Given the description of an element on the screen output the (x, y) to click on. 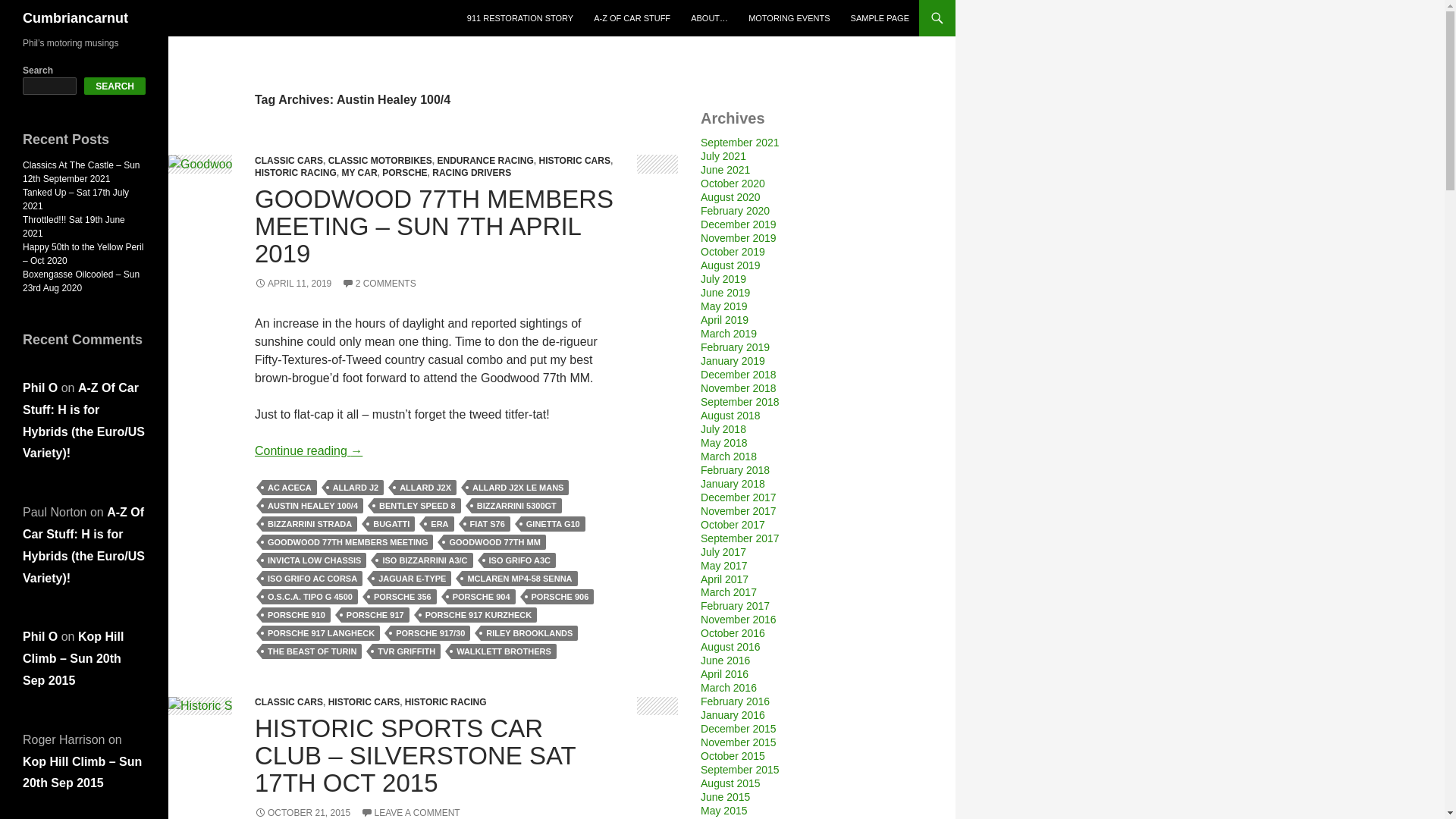
ALLARD J2X LE MANS (518, 487)
Cumbriancarnut (75, 18)
GINETTA G10 (553, 523)
GOODWOOD 77TH MM (494, 541)
CLASSIC CARS (288, 160)
HISTORIC CARS (574, 160)
AC ACECA (289, 487)
APRIL 11, 2019 (292, 283)
BENTLEY SPEED 8 (417, 505)
MY CAR (358, 172)
ERA (438, 523)
GOODWOOD 77TH MEMBERS MEETING (347, 541)
PORSCHE (403, 172)
ALLARD J2 (355, 487)
FIAT S76 (487, 523)
